Given the description of an element on the screen output the (x, y) to click on. 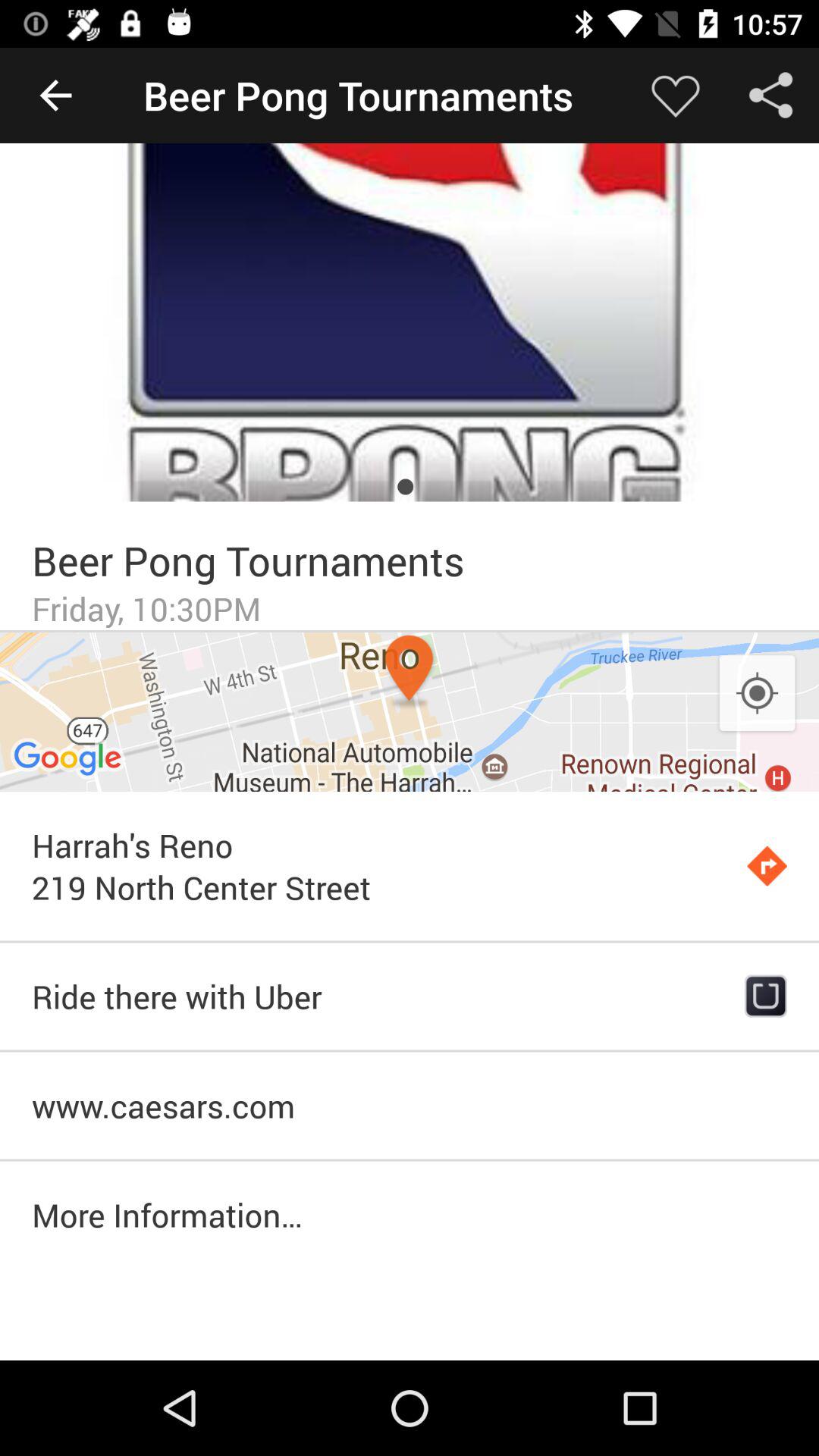
turn on icon next to beer pong tournaments icon (675, 95)
